Given the description of an element on the screen output the (x, y) to click on. 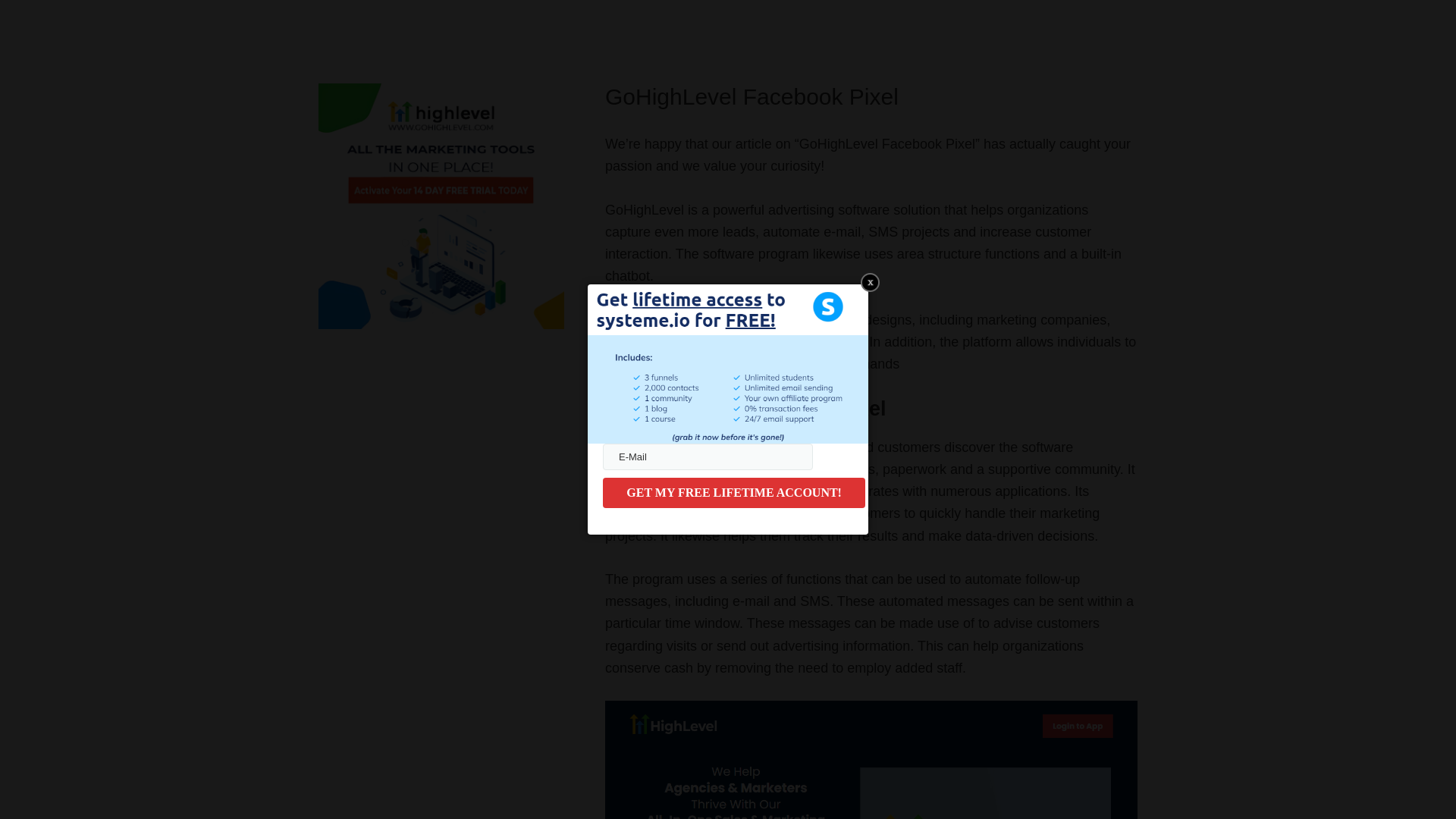
GET MY FREE LIFETIME ACCOUNT! (733, 492)
GET MY FREE LIFETIME ACCOUNT! (733, 492)
